Given the description of an element on the screen output the (x, y) to click on. 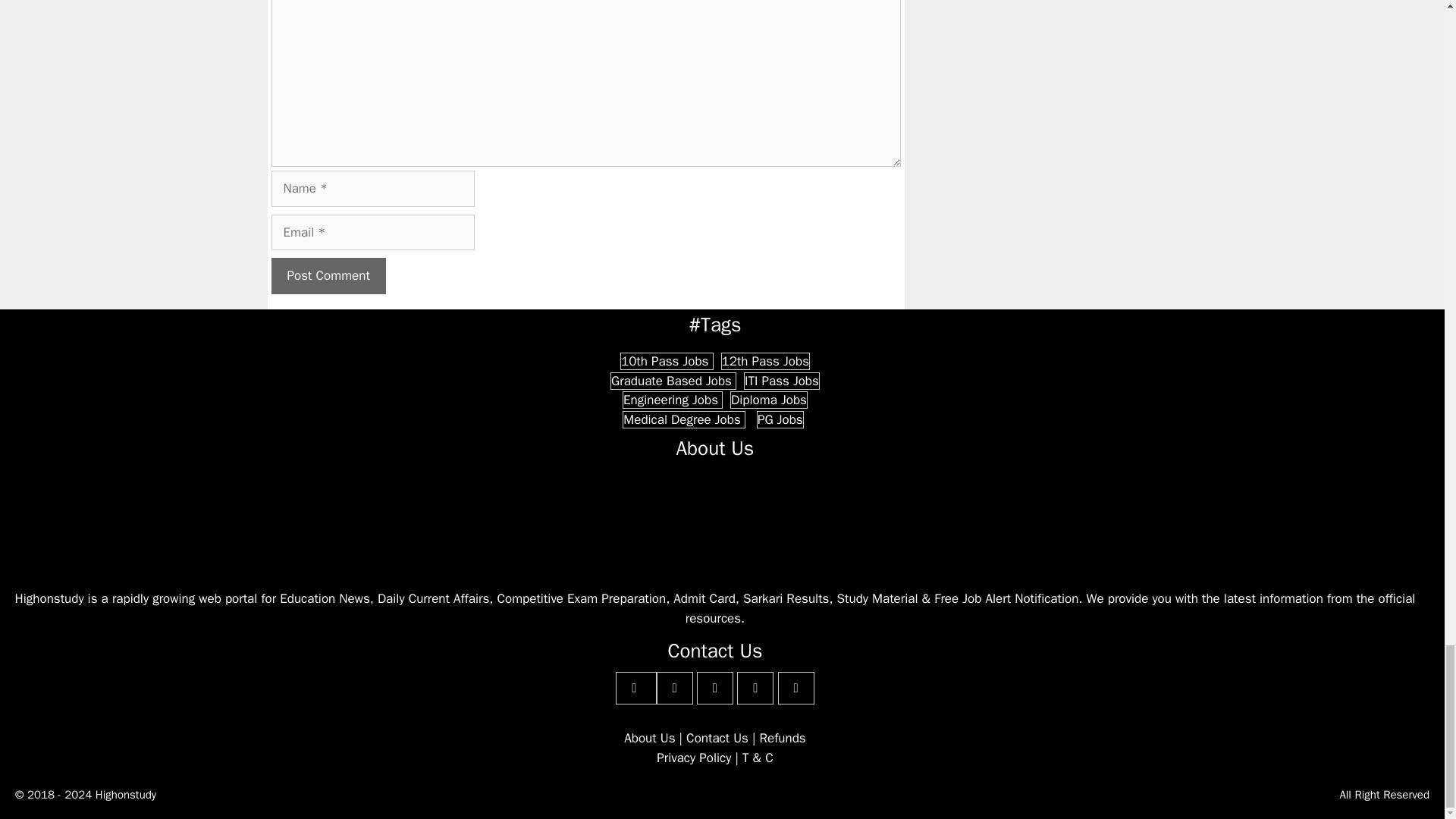
Post Comment (327, 275)
